Given the description of an element on the screen output the (x, y) to click on. 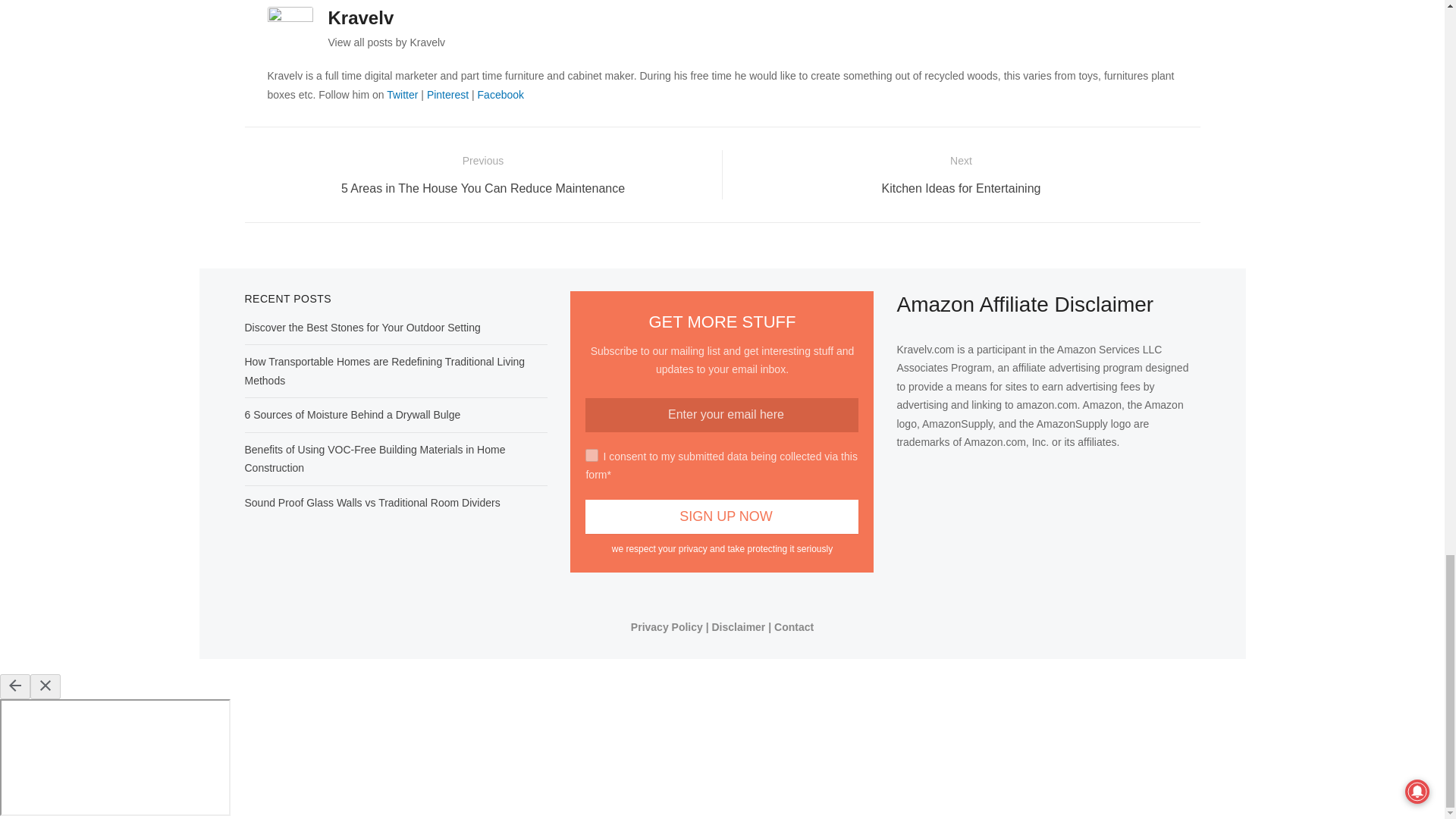
Sign Up Now (722, 516)
Twitter (402, 94)
on (591, 454)
View all posts by Kravelv (386, 42)
